Given the description of an element on the screen output the (x, y) to click on. 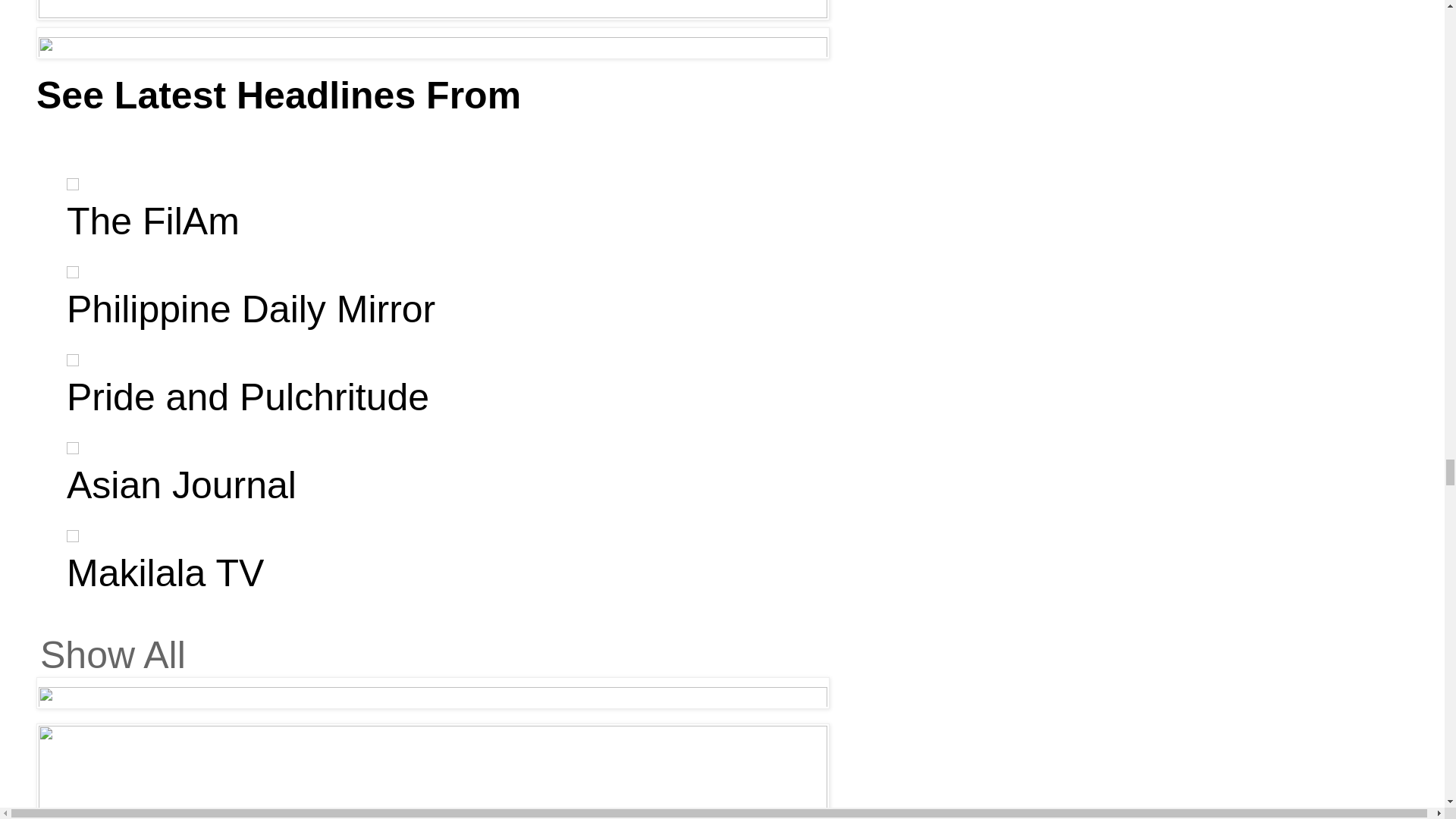
The FilAm (153, 220)
Pride and Pulchritude (247, 396)
Asian Journal (181, 485)
Philippine Daily Mirror (250, 309)
